Given the description of an element on the screen output the (x, y) to click on. 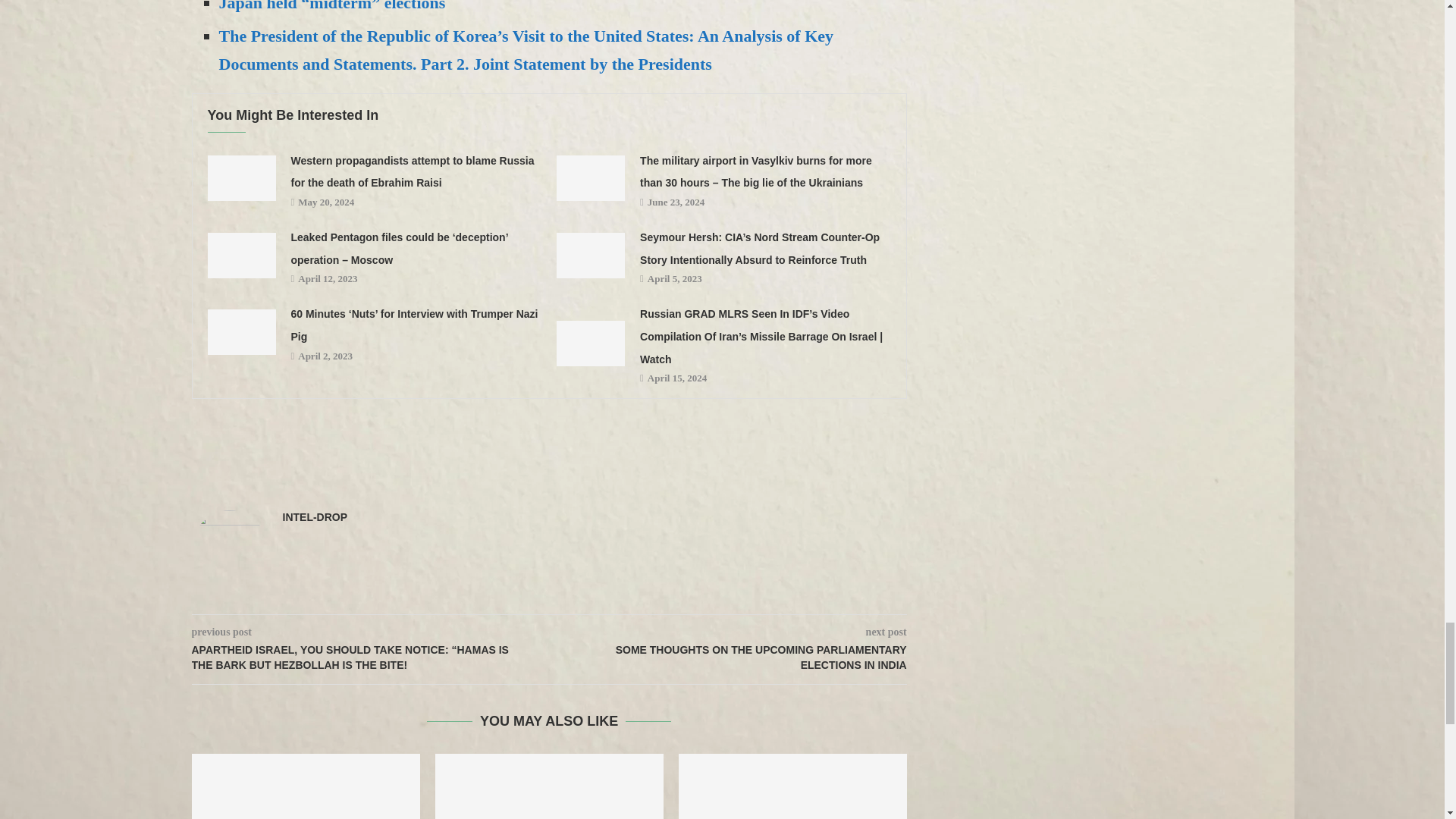
The Perspective From China (304, 786)
Author INTEL-DROP (314, 517)
